Given the description of an element on the screen output the (x, y) to click on. 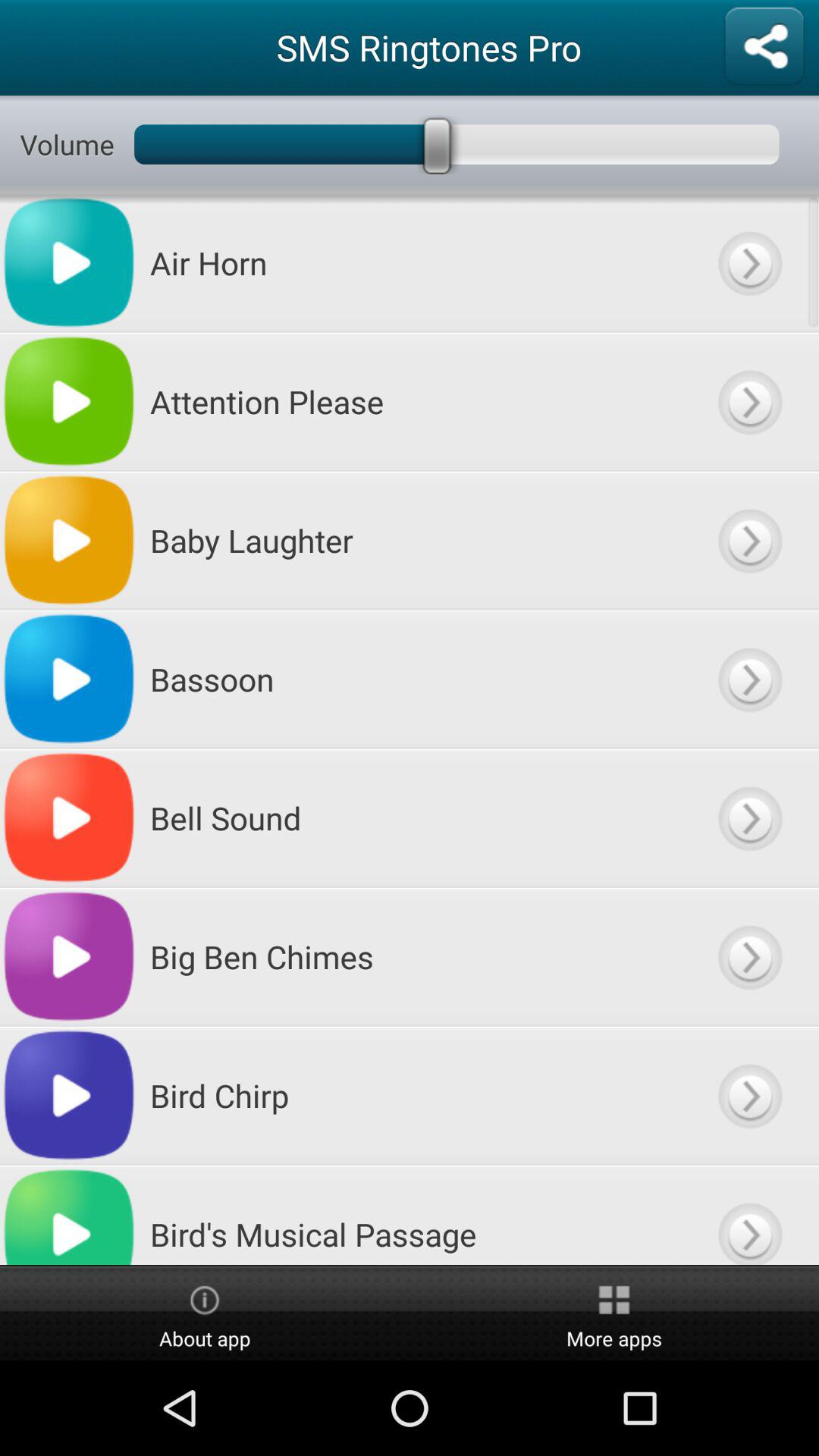
see more options about this ringtone (749, 540)
